Given the description of an element on the screen output the (x, y) to click on. 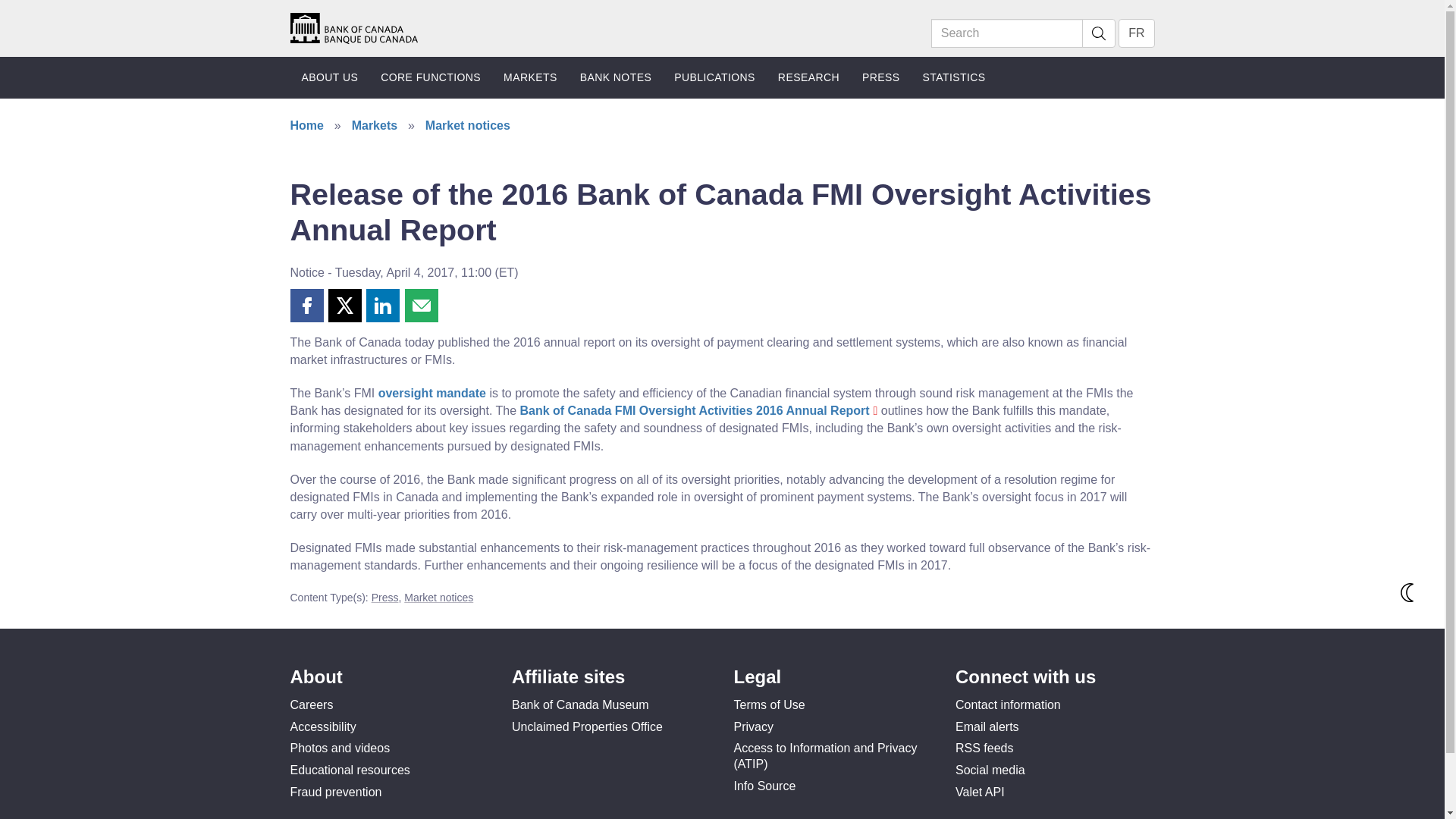
Share this page on X (345, 305)
ABOUT US (329, 77)
Home (352, 27)
Share this page on Facebook (306, 305)
CORE FUNCTIONS (430, 77)
Share this page by email (421, 305)
Home (352, 28)
Home (352, 27)
Search (1007, 32)
FR (1136, 32)
